Given the description of an element on the screen output the (x, y) to click on. 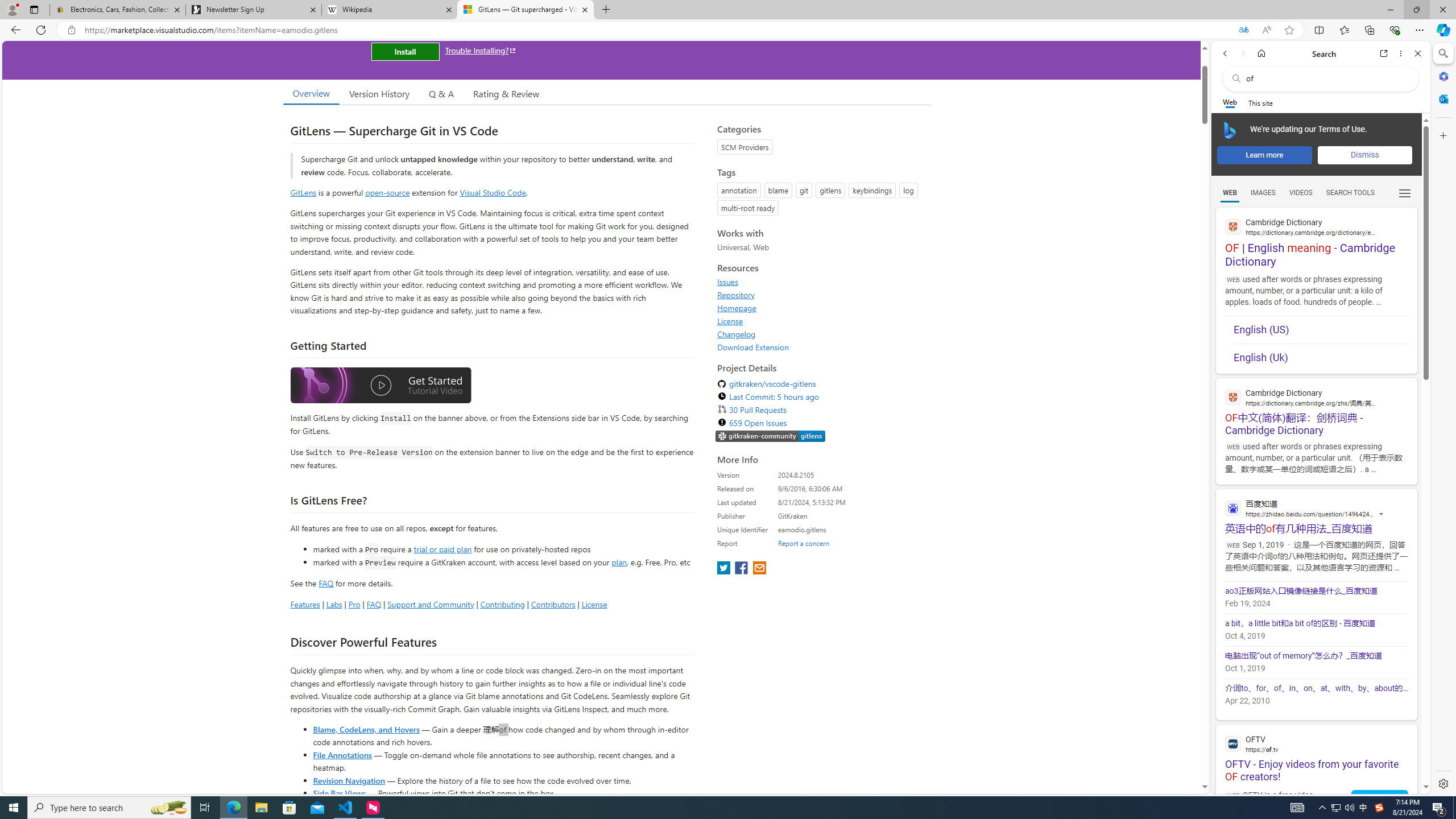
Download Extension (820, 346)
